Given the description of an element on the screen output the (x, y) to click on. 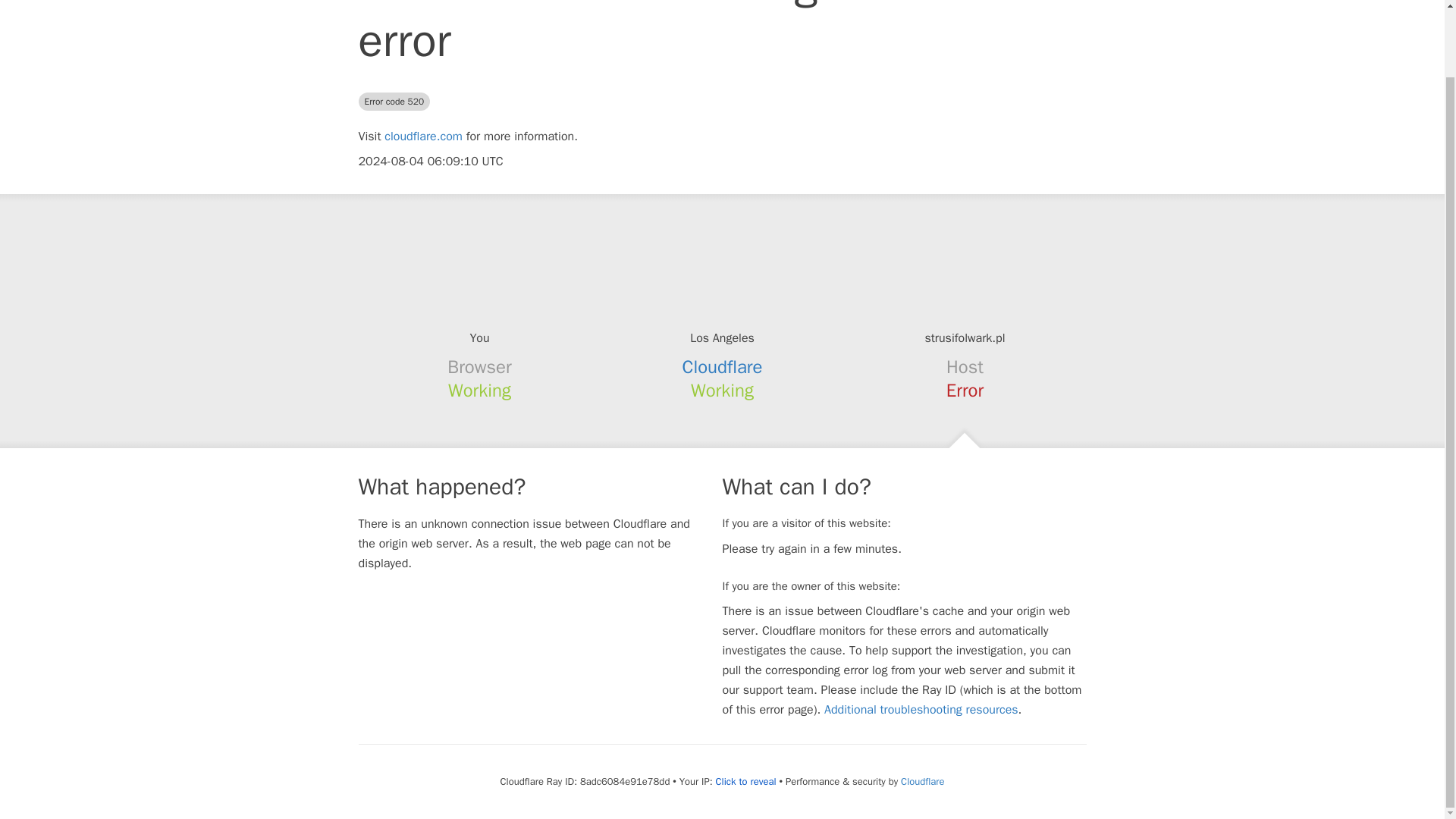
Click to reveal (746, 781)
Additional troubleshooting resources (920, 709)
Cloudflare (922, 780)
cloudflare.com (423, 136)
Cloudflare (722, 366)
